Given the description of an element on the screen output the (x, y) to click on. 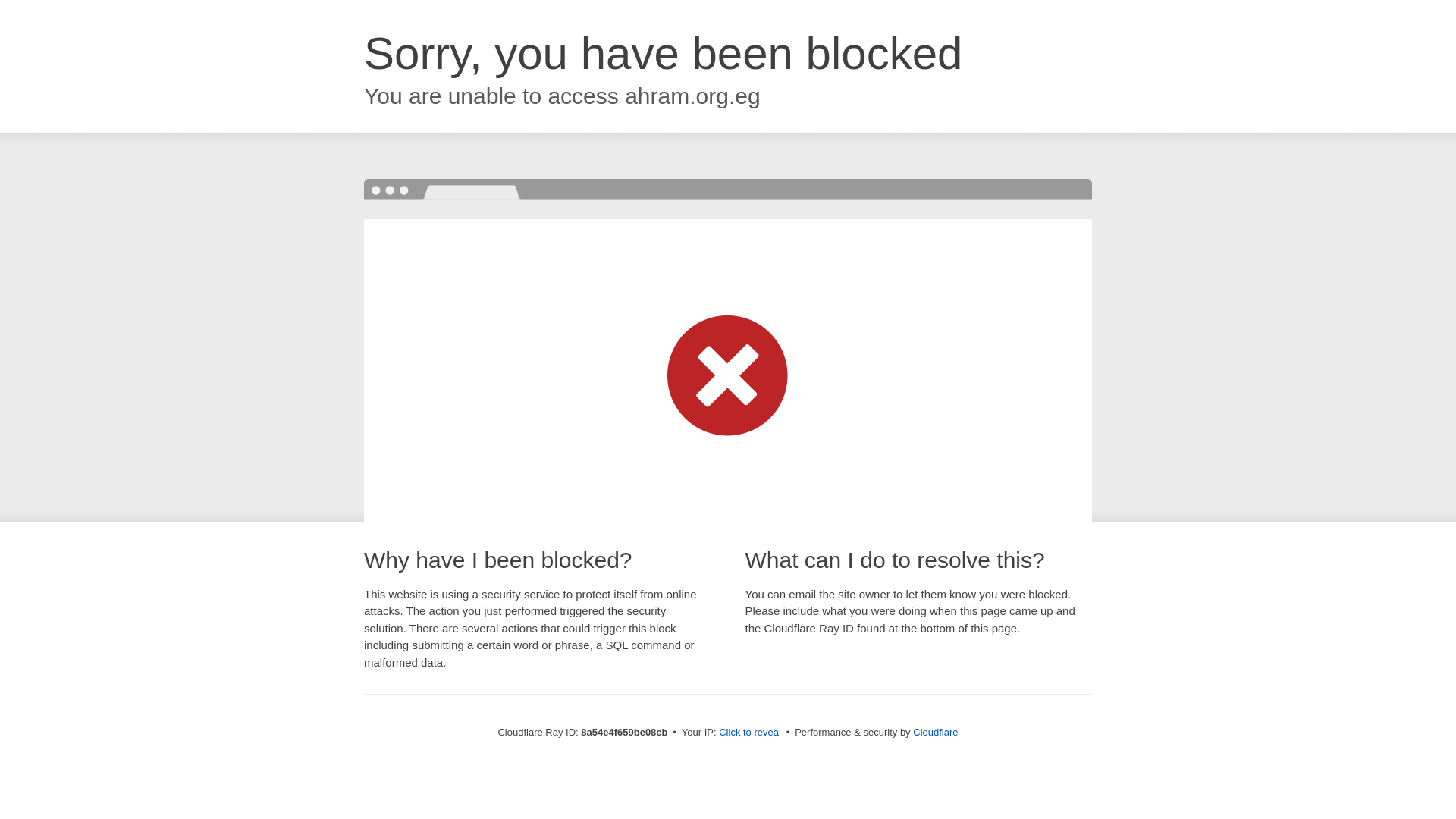
Click to reveal (749, 732)
Cloudflare (935, 731)
